Given the description of an element on the screen output the (x, y) to click on. 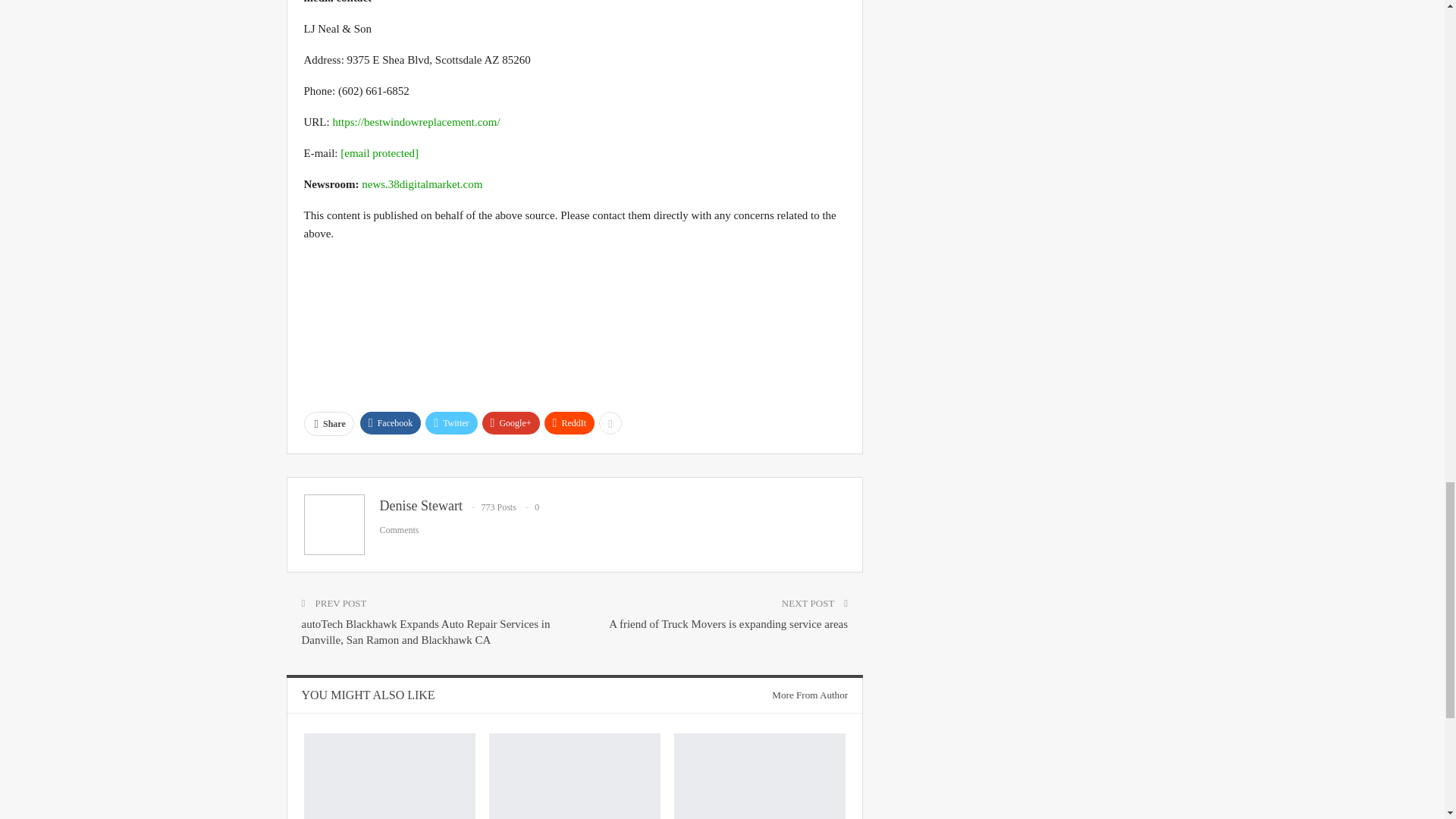
ReddIt (569, 422)
Facebook (390, 422)
Twitter (451, 422)
news.38digitalmarket.com (421, 184)
